Given the description of an element on the screen output the (x, y) to click on. 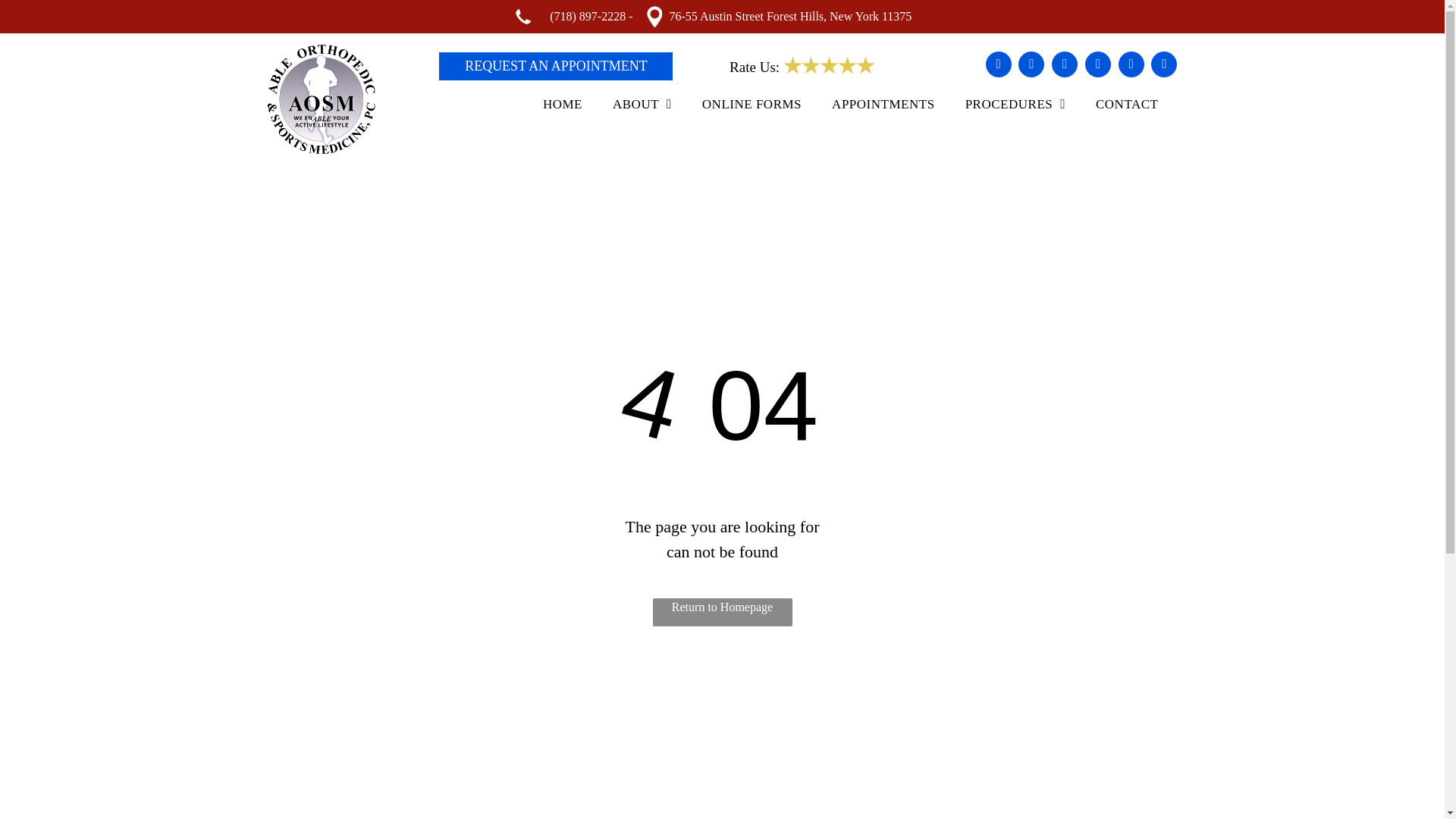
HOME (562, 104)
APPOINTMENTS (883, 104)
CONTACT (1127, 104)
Return to Homepage (722, 612)
ONLINE FORMS (751, 104)
76-55 Austin Street Forest Hills, New York 11375 (789, 15)
PROCEDURES (1015, 104)
ABOUT (641, 104)
REQUEST AN APPOINTMENT (555, 64)
